Given the description of an element on the screen output the (x, y) to click on. 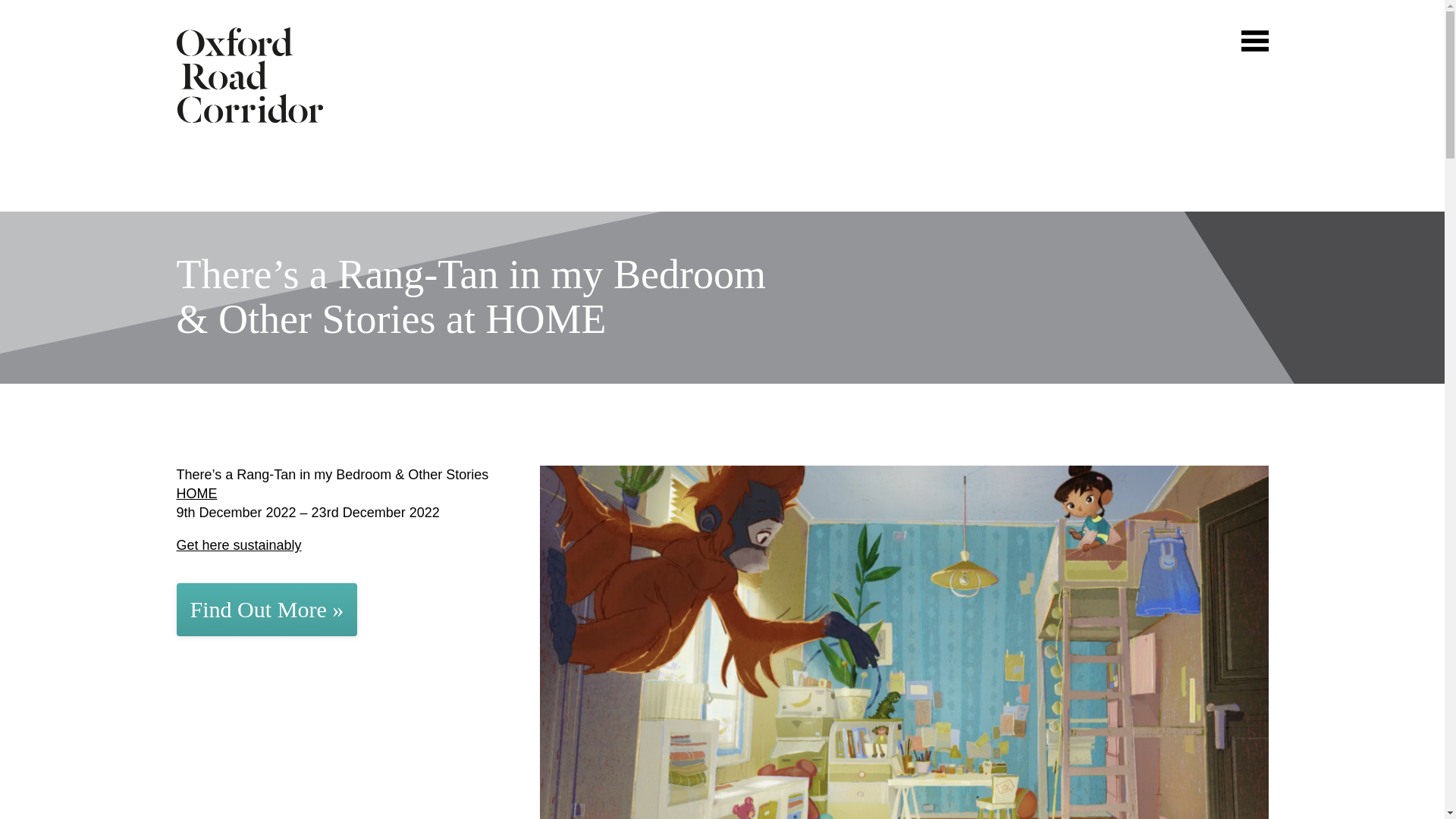
Get here sustainably (238, 544)
HOME (196, 493)
